Given the description of an element on the screen output the (x, y) to click on. 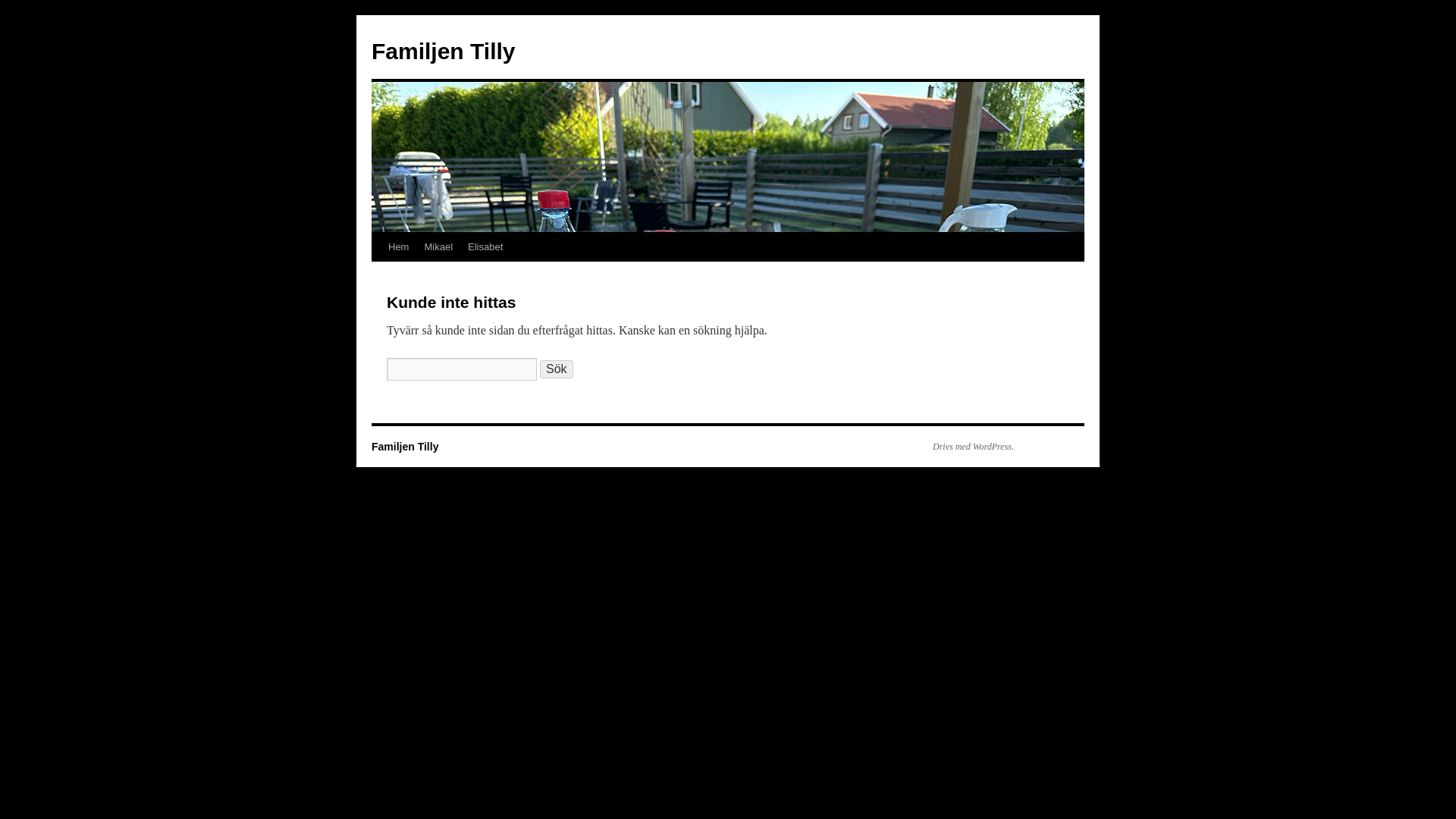
Familjen Tilly (443, 50)
Hem (398, 246)
Elisabet (485, 246)
Mikael (438, 246)
